Given the description of an element on the screen output the (x, y) to click on. 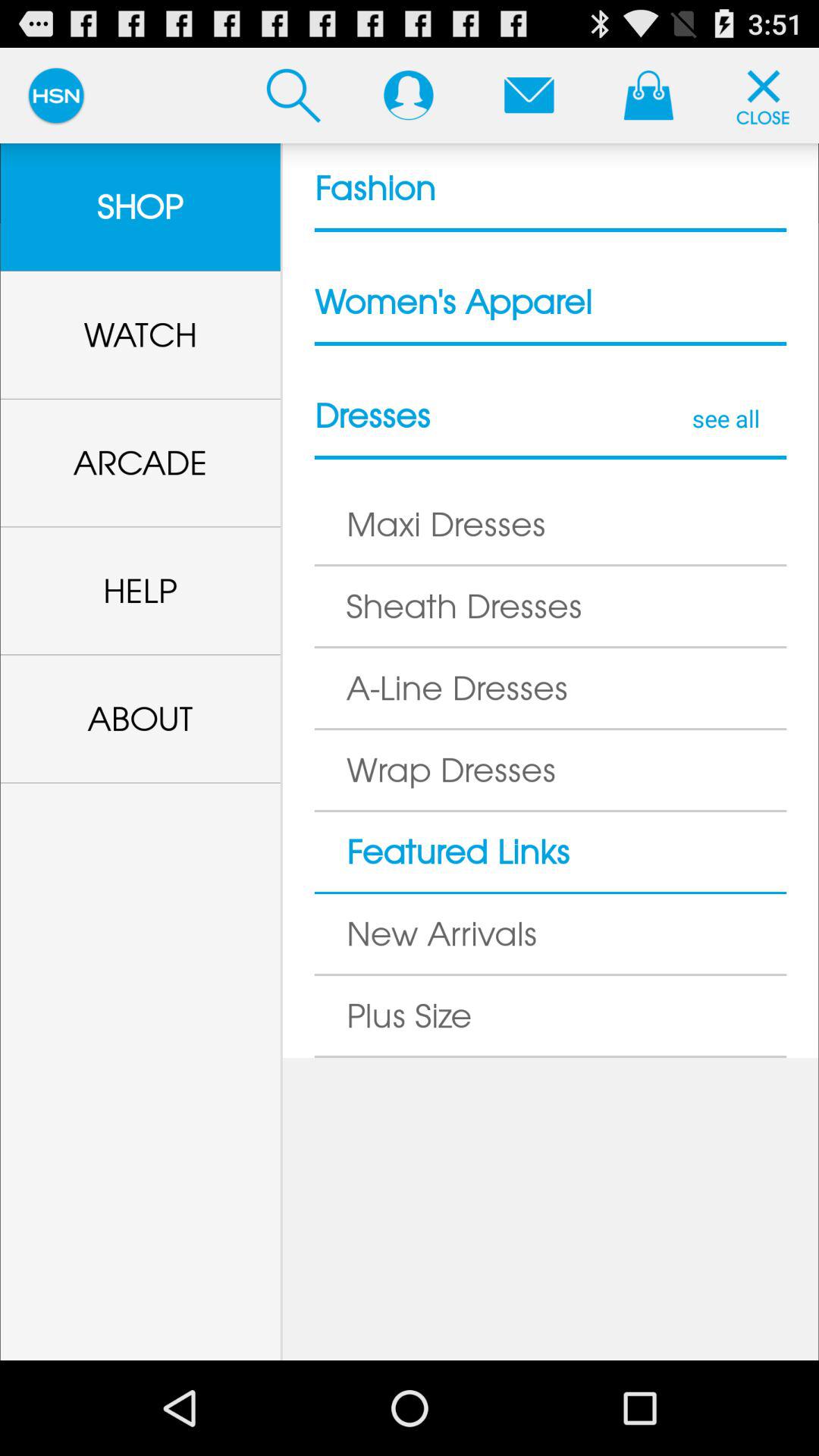
see shopping bag (648, 95)
